Given the description of an element on the screen output the (x, y) to click on. 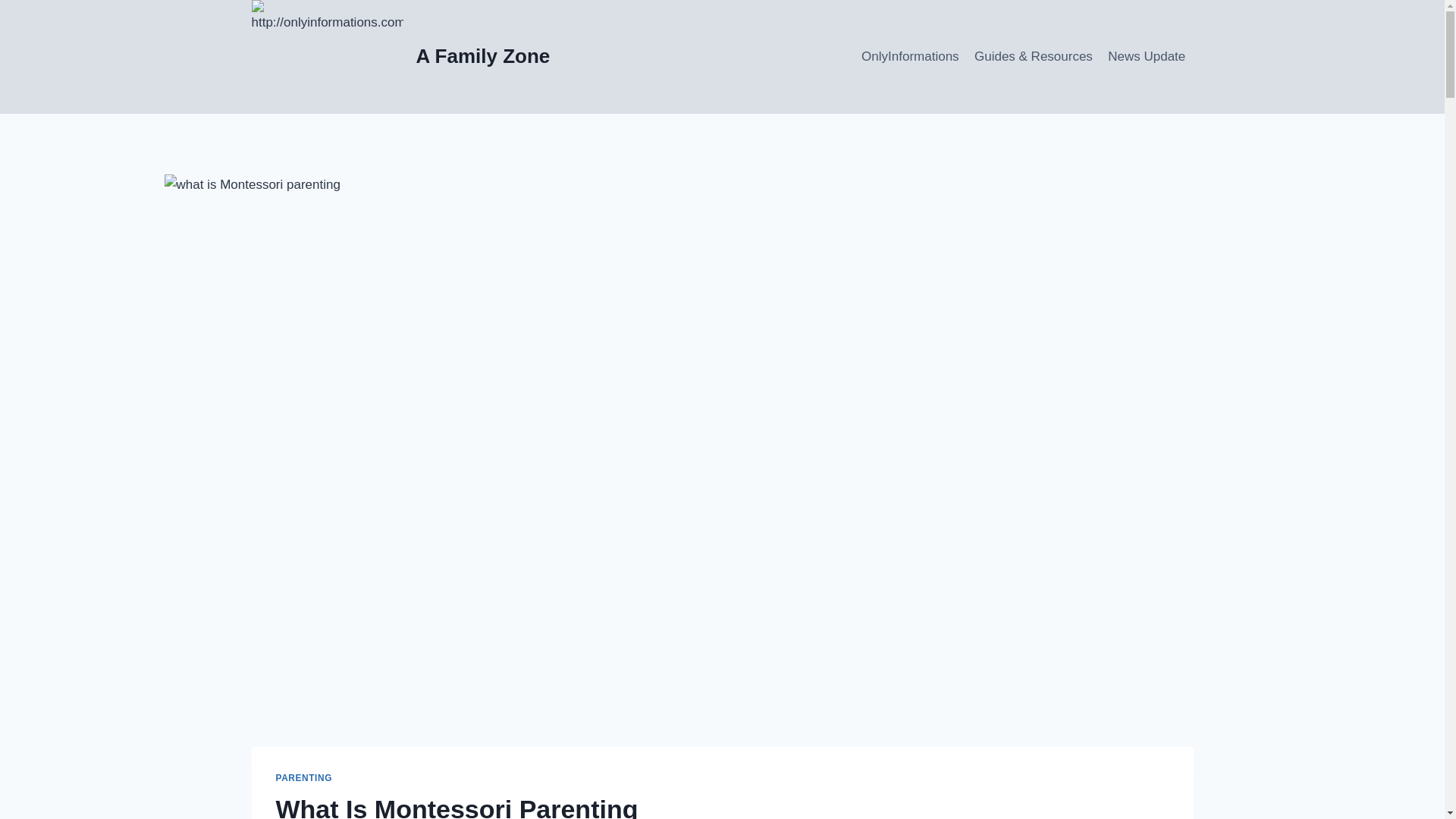
PARENTING (304, 777)
A Family Zone (400, 56)
News Update (1146, 56)
OnlyInformations (909, 56)
